Given the description of an element on the screen output the (x, y) to click on. 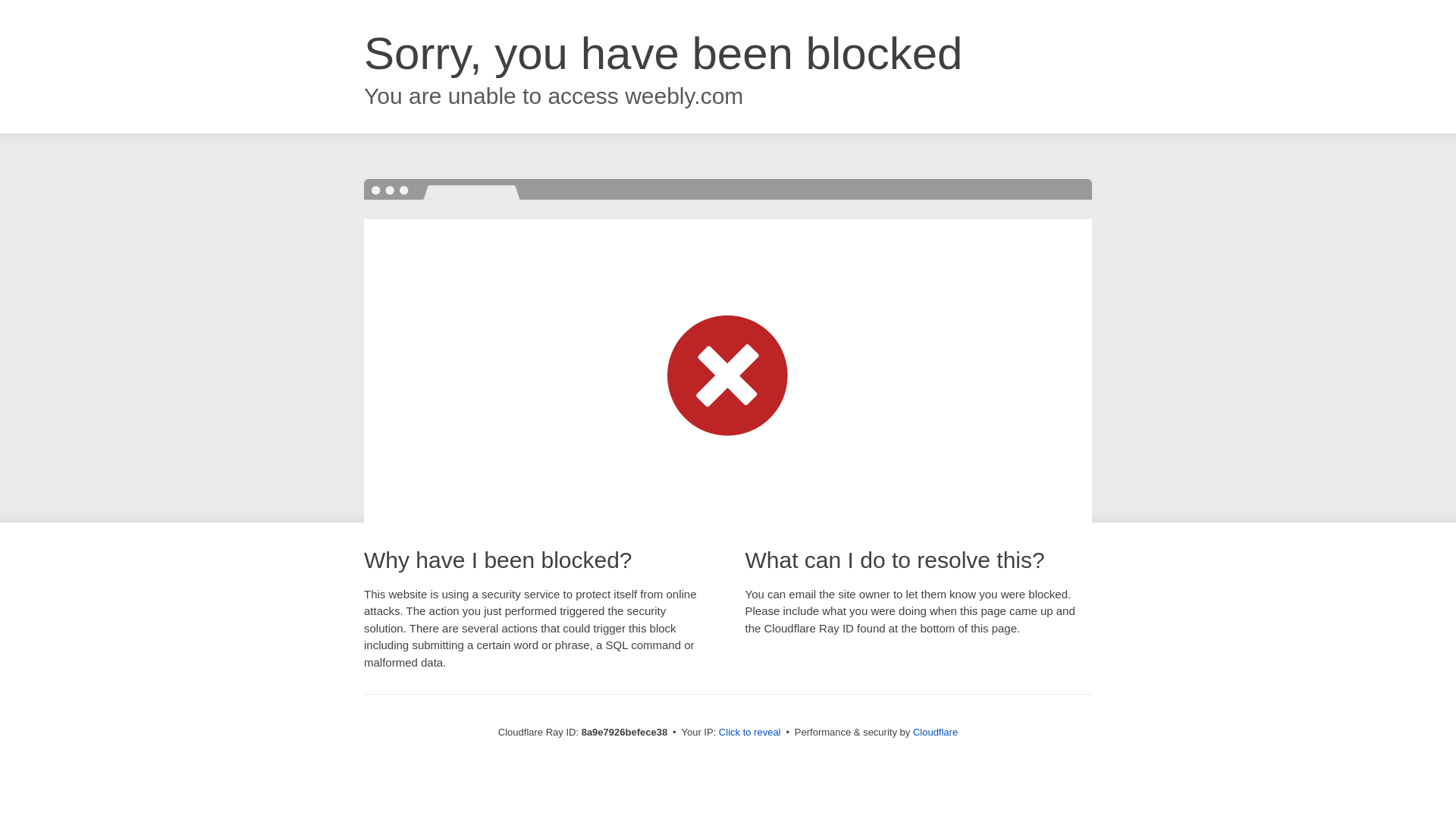
Cloudflare (935, 731)
Click to reveal (749, 732)
